Given the description of an element on the screen output the (x, y) to click on. 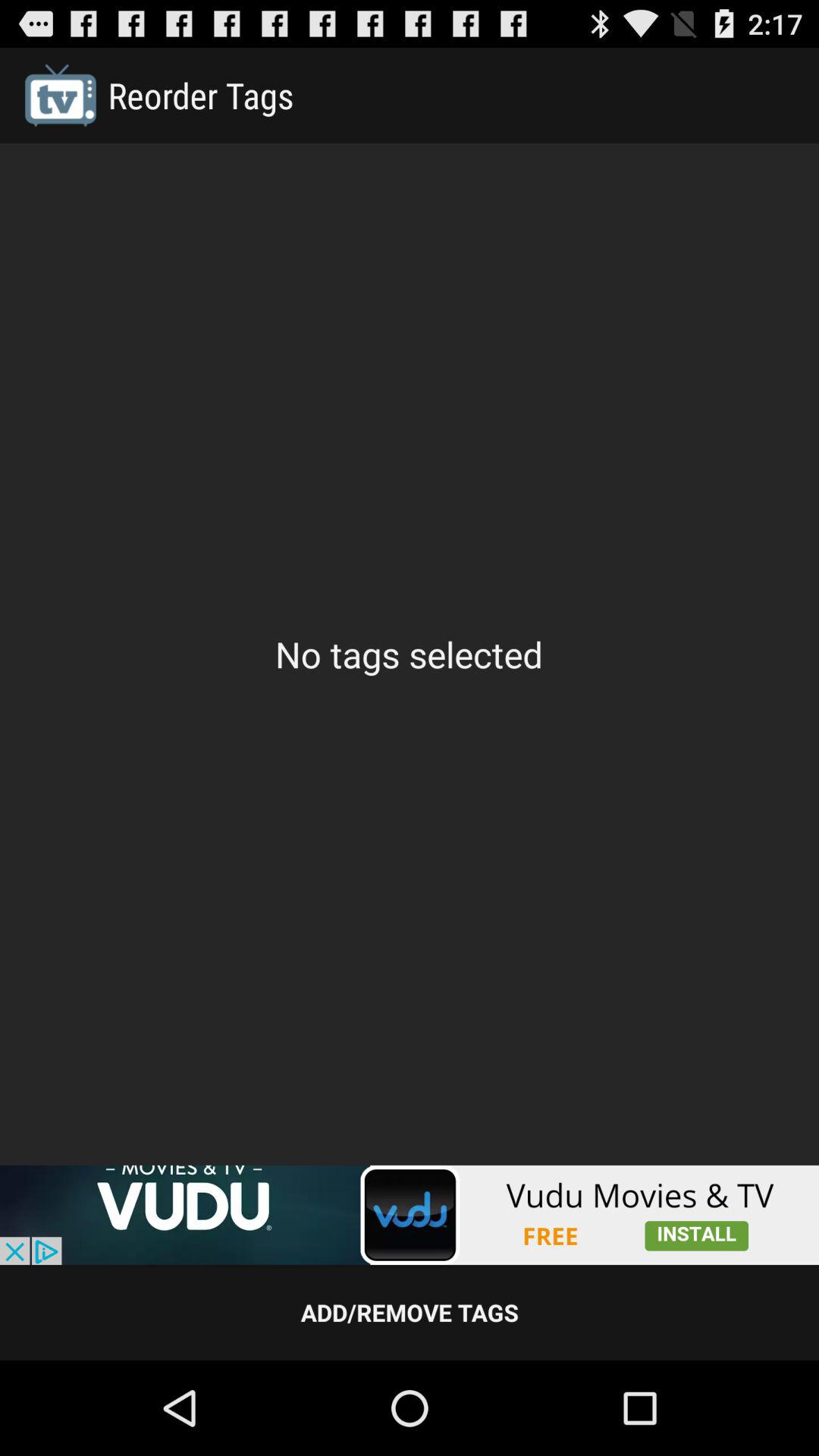
advertisement page (409, 1214)
